Given the description of an element on the screen output the (x, y) to click on. 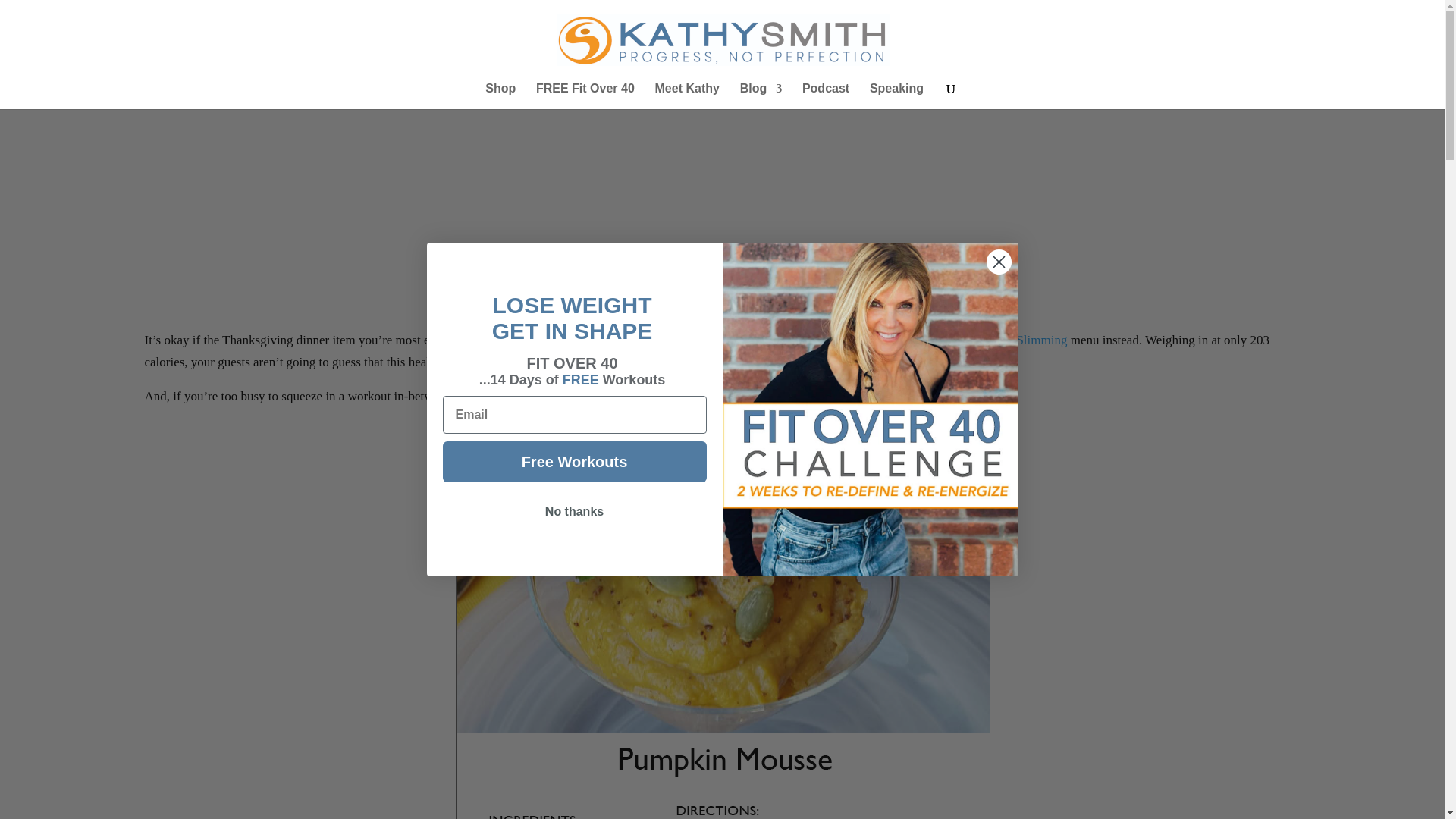
Blog (761, 95)
Meet Kathy (687, 95)
Speaking (896, 95)
Close dialog 1 (998, 261)
Podcast (825, 95)
Shop (499, 95)
FREE Fit Over 40 (584, 95)
